Given the description of an element on the screen output the (x, y) to click on. 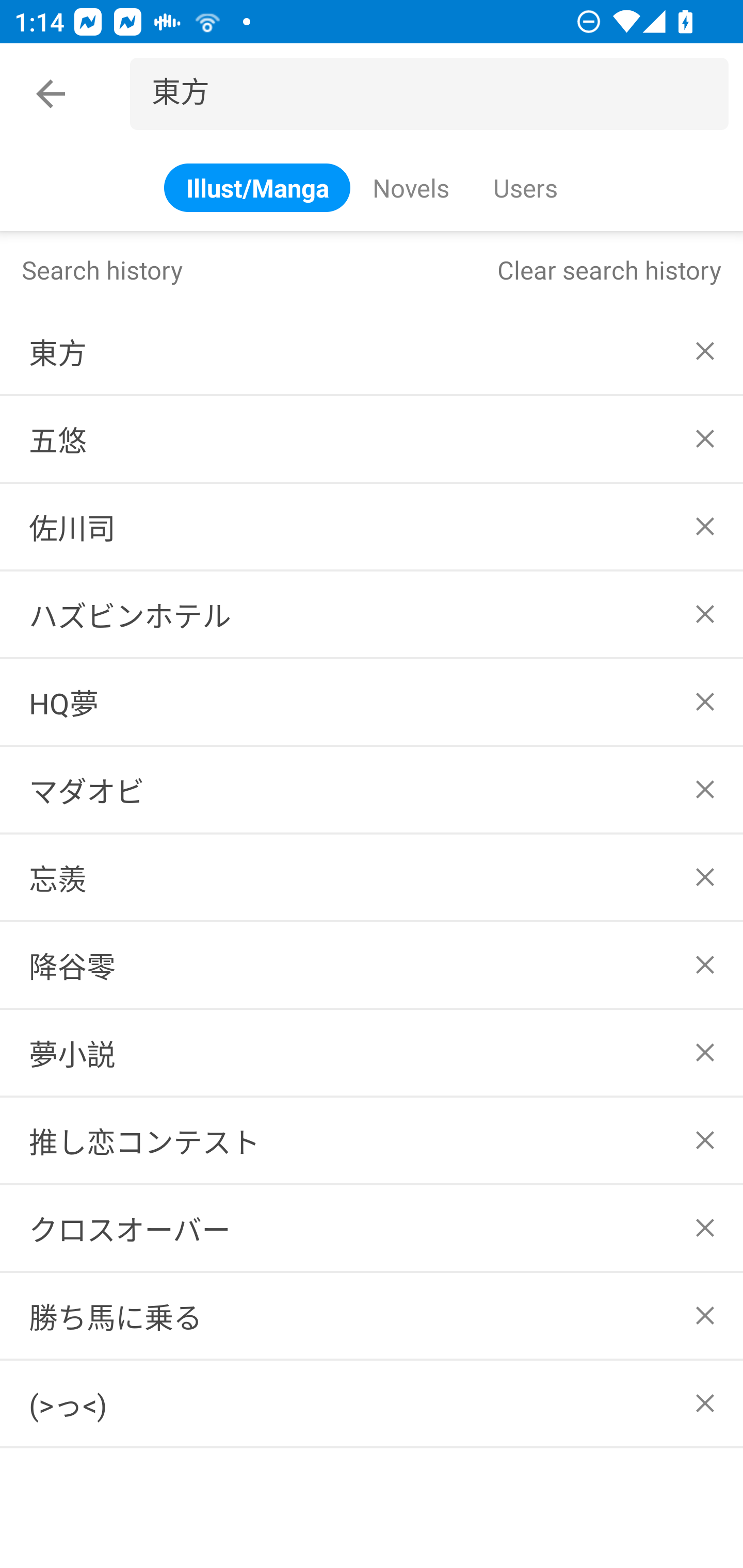
Navigate up (50, 93)
東方  (436, 94)
Illust/Manga (257, 187)
Novels (410, 187)
Users (524, 187)
Clear search history (609, 269)
東方 (371, 350)
五悠 (371, 438)
佐川司 (371, 526)
ハズビンホテル (371, 613)
HQ夢 (371, 701)
マダオビ (371, 789)
忘羨 (371, 877)
降谷零 (371, 964)
夢小説 (371, 1052)
推し恋コンテスト (371, 1140)
クロスオーバー (371, 1228)
勝ち馬に乗る (371, 1315)
(>っ<) (371, 1403)
